Given the description of an element on the screen output the (x, y) to click on. 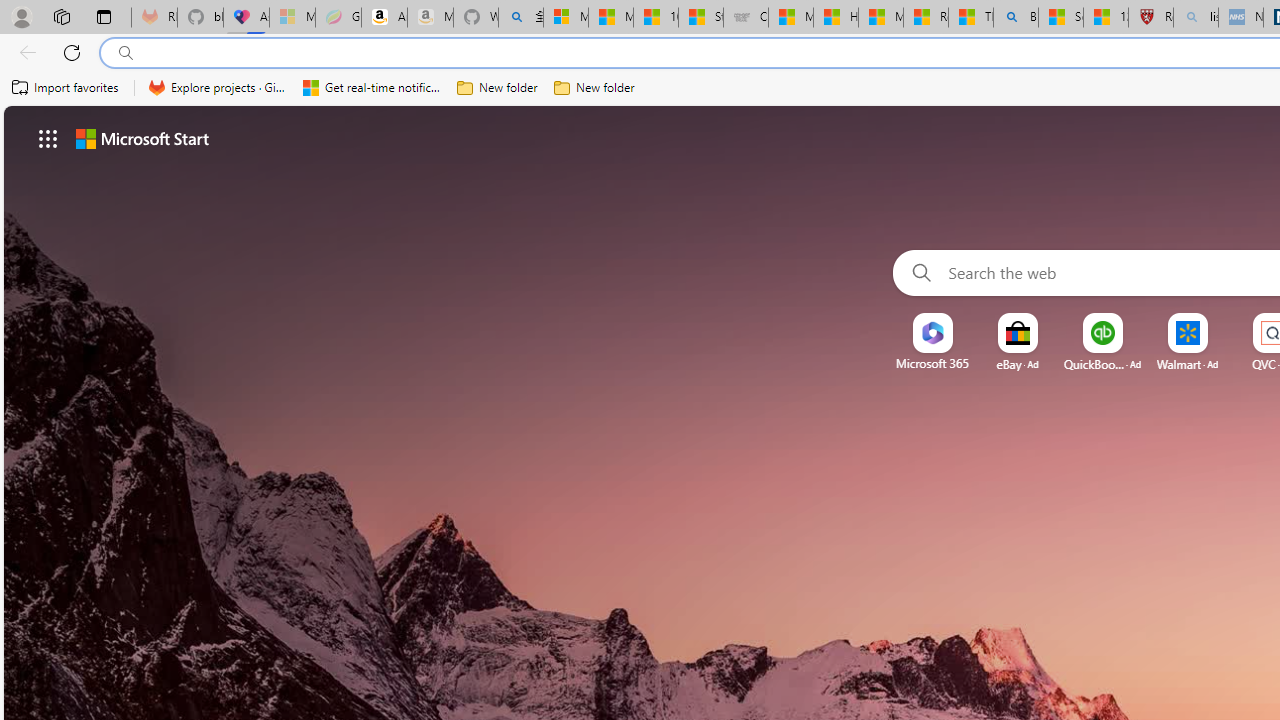
Microsoft start (142, 138)
New folder (594, 88)
How I Got Rid of Microsoft Edge's Unnecessary Features (835, 17)
